Given the description of an element on the screen output the (x, y) to click on. 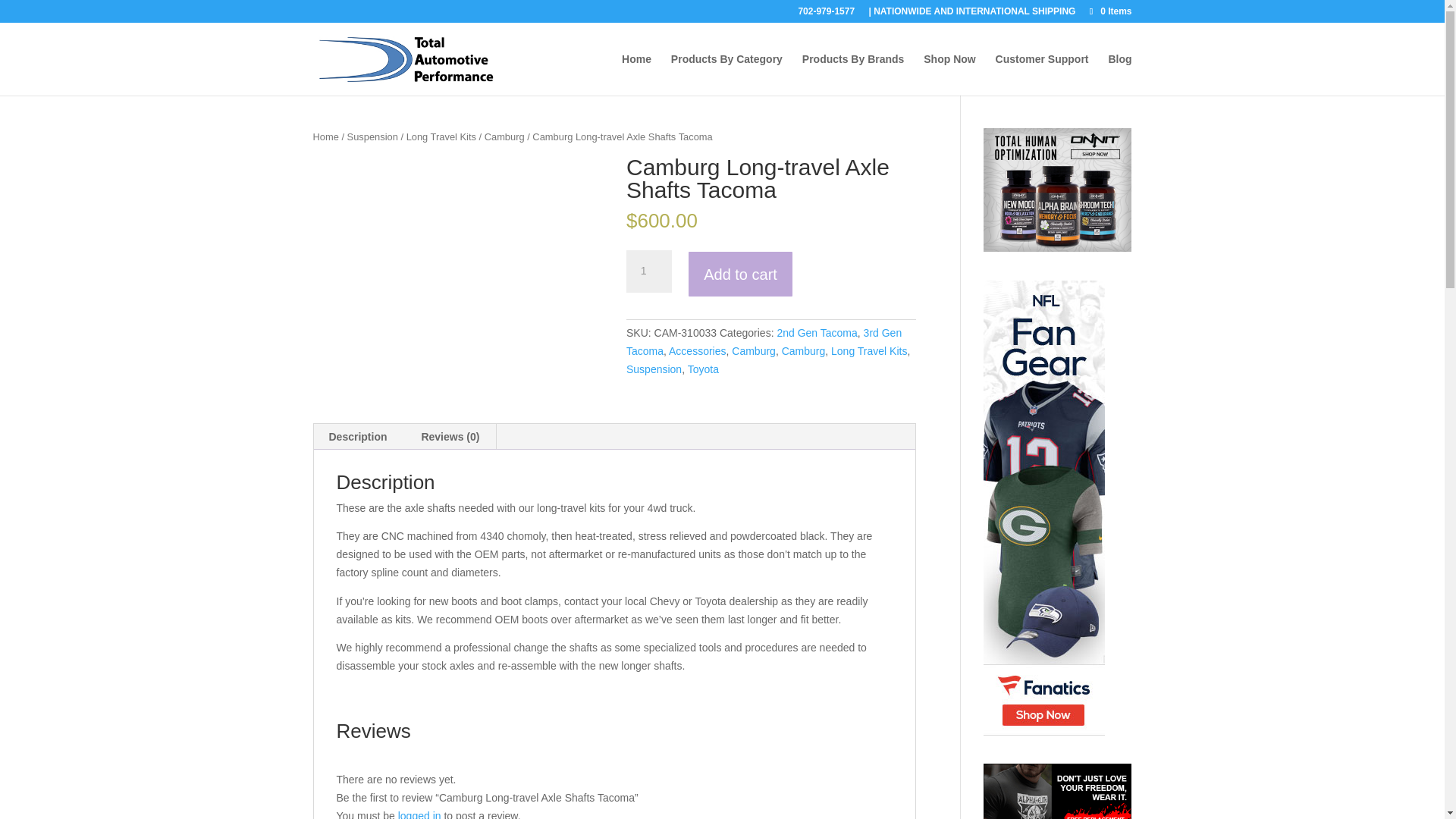
Add to cart (740, 274)
Products By Brands (853, 74)
Customer Support (1042, 74)
3rd Gen Tacoma (763, 341)
Long Travel Kits (441, 136)
2nd Gen Tacoma (816, 332)
Accessories (696, 350)
Toyota (703, 369)
Description (358, 436)
Home (325, 136)
